Given the description of an element on the screen output the (x, y) to click on. 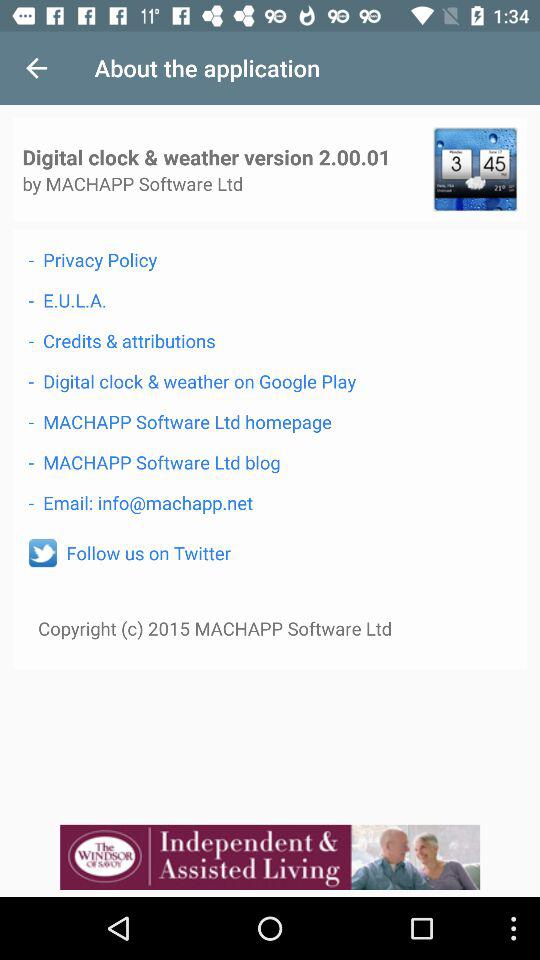
twitter (42, 553)
